Given the description of an element on the screen output the (x, y) to click on. 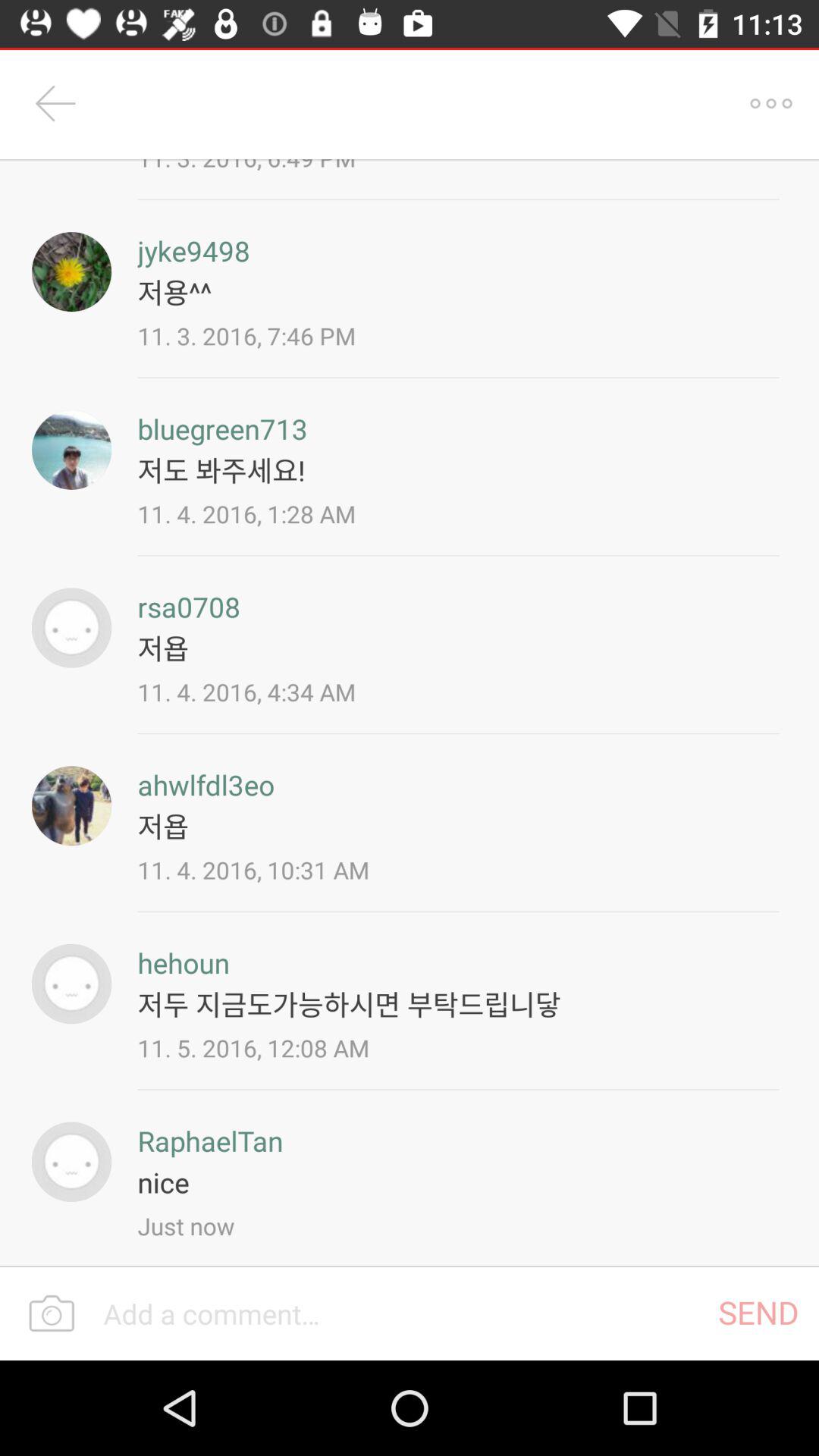
type our comments (400, 1313)
